Given the description of an element on the screen output the (x, y) to click on. 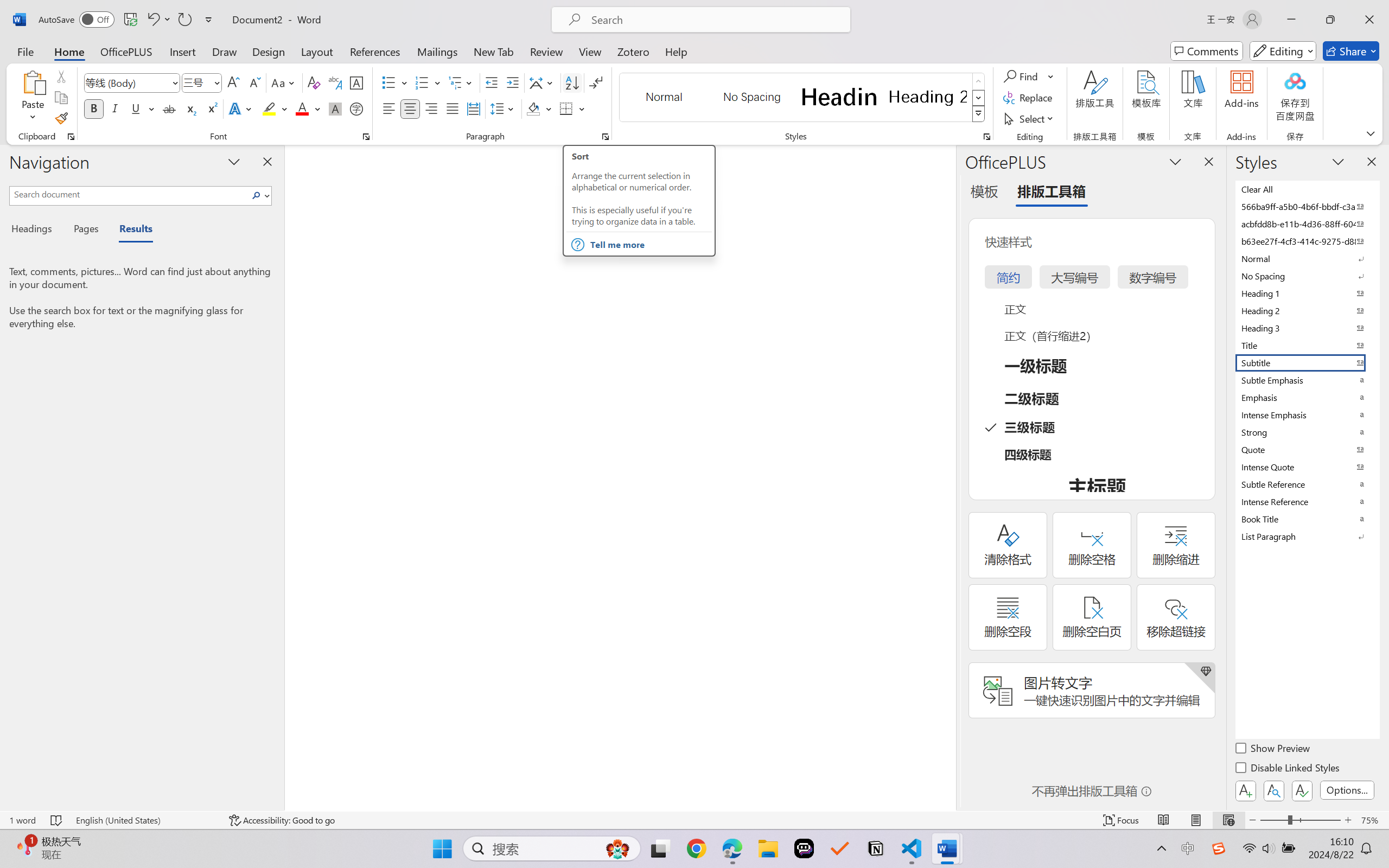
Class: NetUIButton (1301, 790)
Text Highlight Color Yellow (269, 108)
Increase Indent (512, 82)
Customize Quick Access Toolbar (208, 19)
Justify (452, 108)
Print Layout (1196, 819)
File Tab (24, 51)
Home (69, 51)
Show/Hide Editing Marks (595, 82)
Find (1022, 75)
Normal (1306, 258)
Title (1306, 345)
Zoom In (1348, 819)
Read Mode (1163, 819)
Ribbon Display Options (1370, 132)
